Given the description of an element on the screen output the (x, y) to click on. 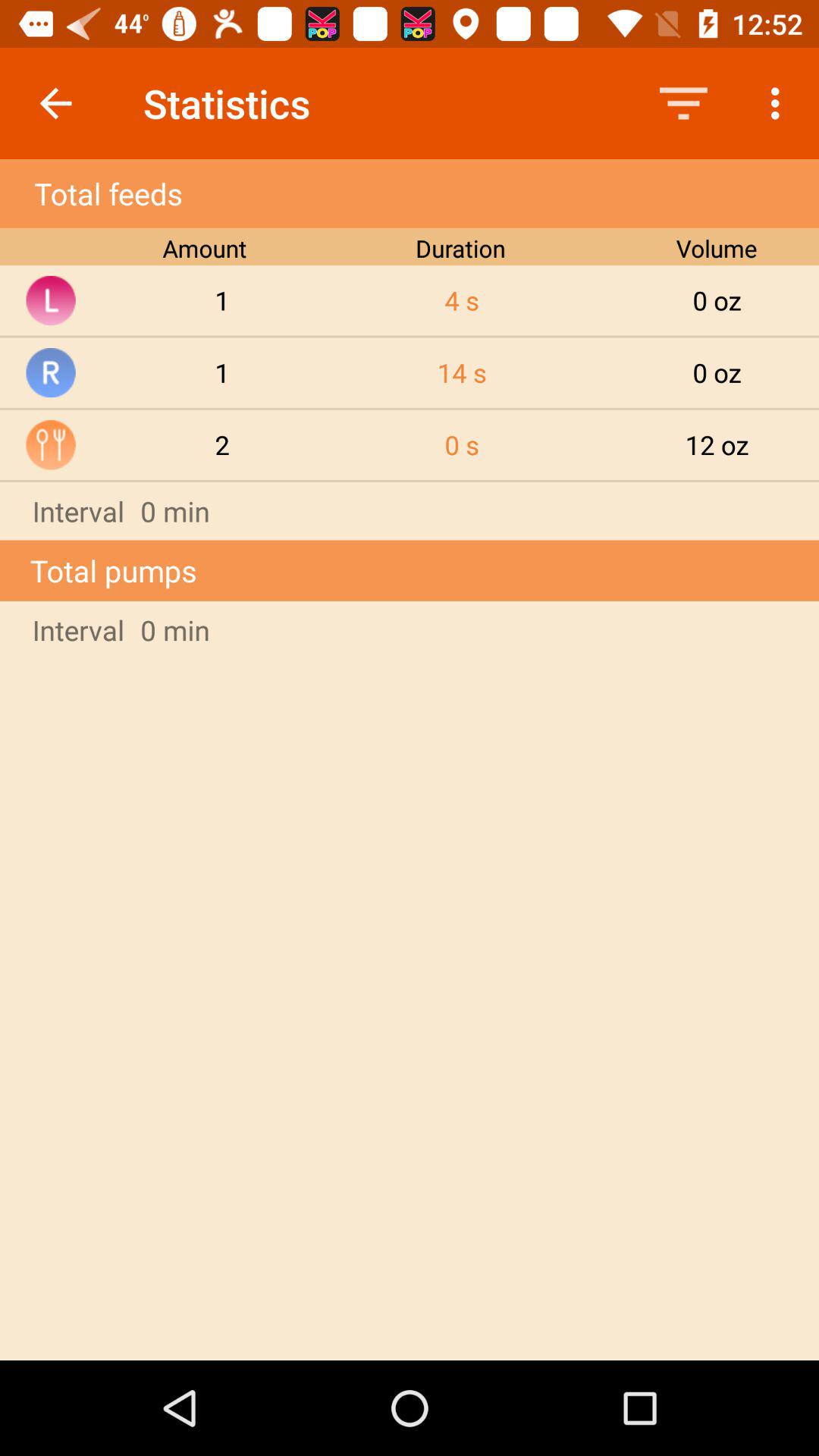
turn off icon above 0 min (717, 445)
